Given the description of an element on the screen output the (x, y) to click on. 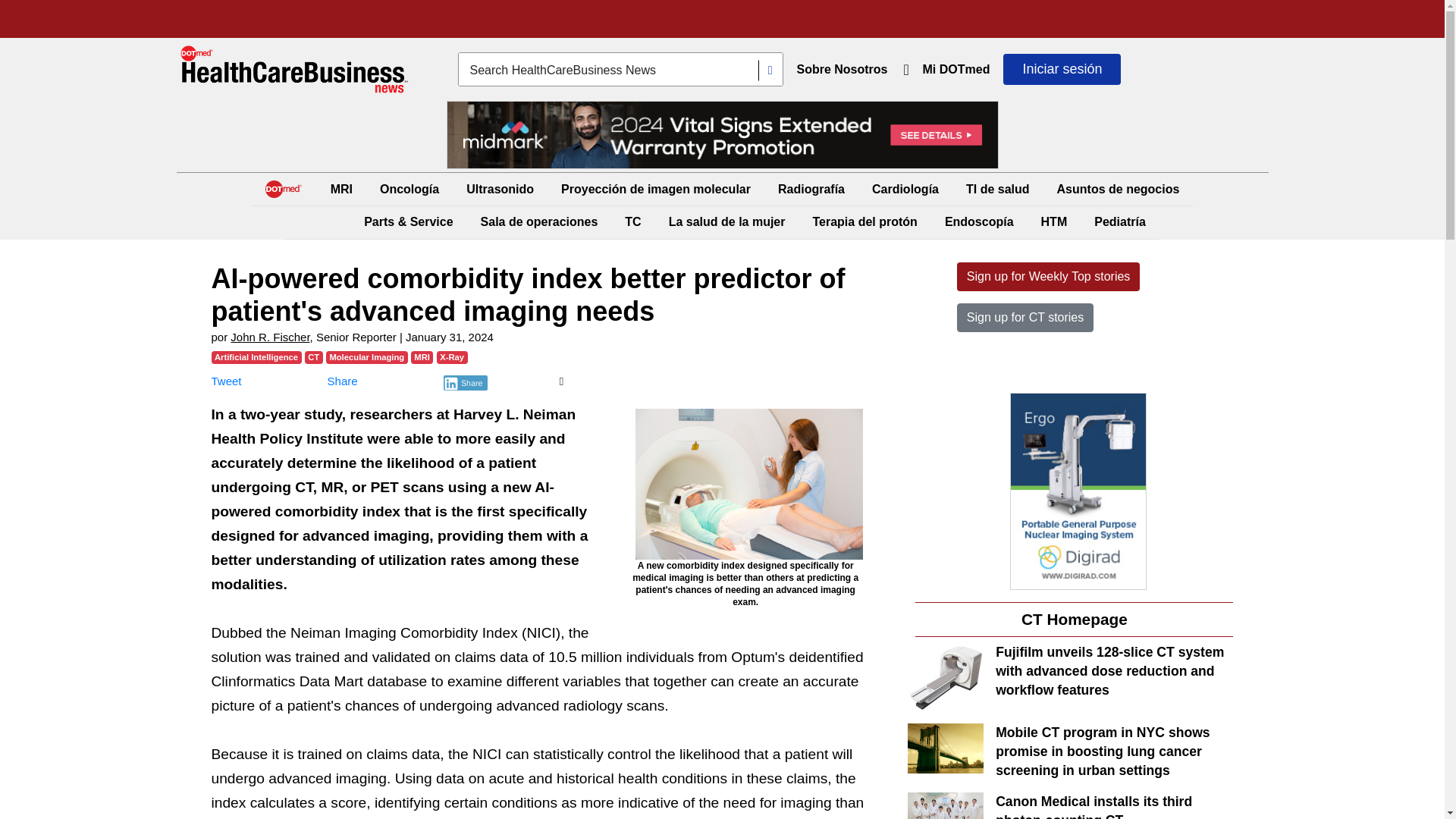
Sobre Nosotros (841, 69)
TC (632, 221)
More news from John R. Fischer (269, 336)
TI de salud (997, 188)
DOTmed News (293, 69)
Mi DOTmed (956, 69)
HTM (1054, 221)
Ultrasonido (500, 188)
Sala de operaciones (539, 221)
La salud de la mujer (727, 221)
Asuntos de negocios (1118, 188)
MRI (341, 188)
John R. Fischer (269, 336)
